Given the description of an element on the screen output the (x, y) to click on. 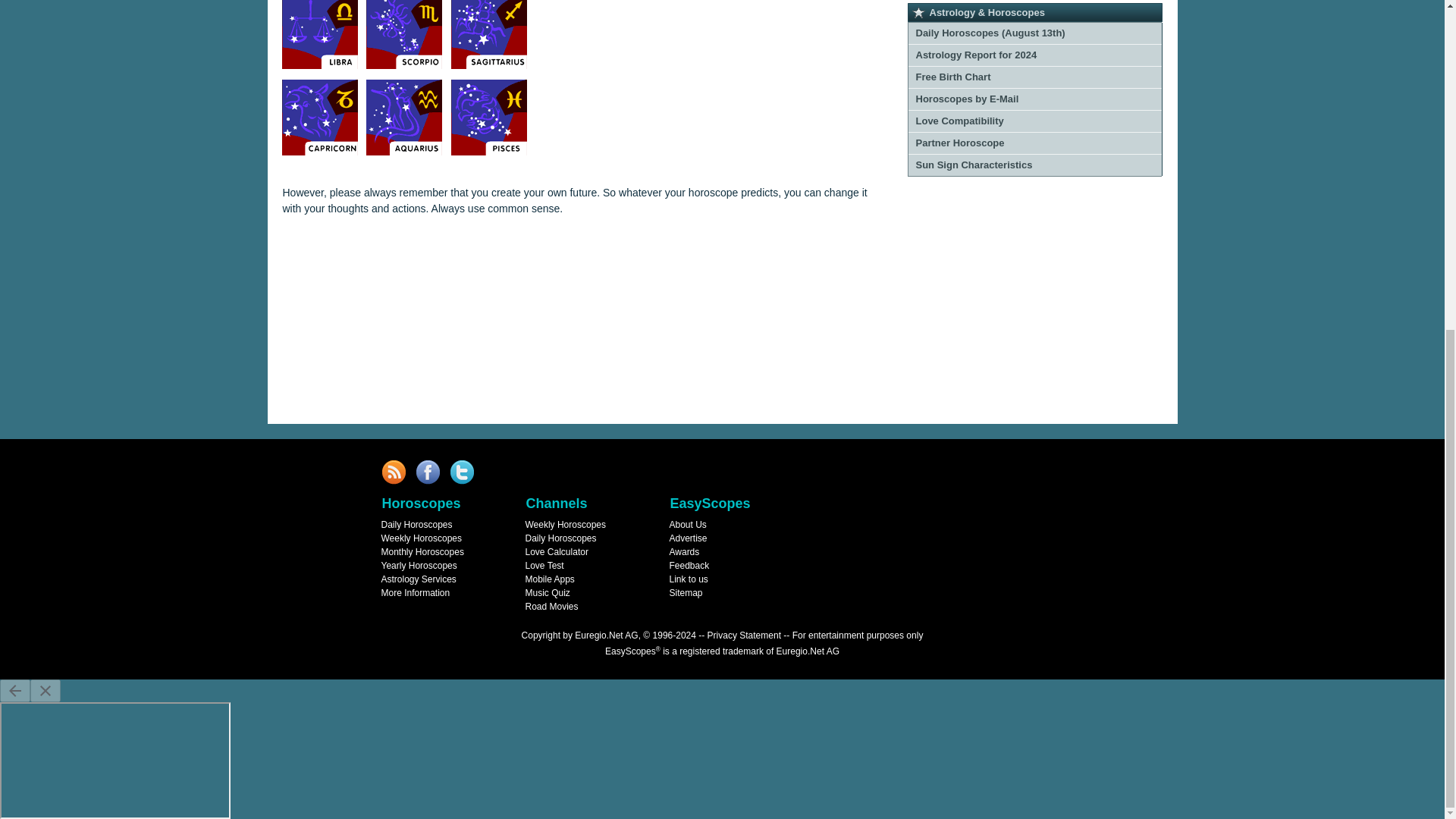
Libra Horoscopes (320, 34)
Follow us on facebook (426, 472)
Scorpio Horoscopes (404, 34)
Aquarius Horoscopes (404, 117)
Capricorn Horoscopes (320, 117)
Follow us on twitter (461, 472)
Subscribe to our RSS feed (392, 472)
Pisces Horoscopes (489, 117)
Sagittarius Horoscopes (489, 34)
Advertisement (1034, 302)
